Given the description of an element on the screen output the (x, y) to click on. 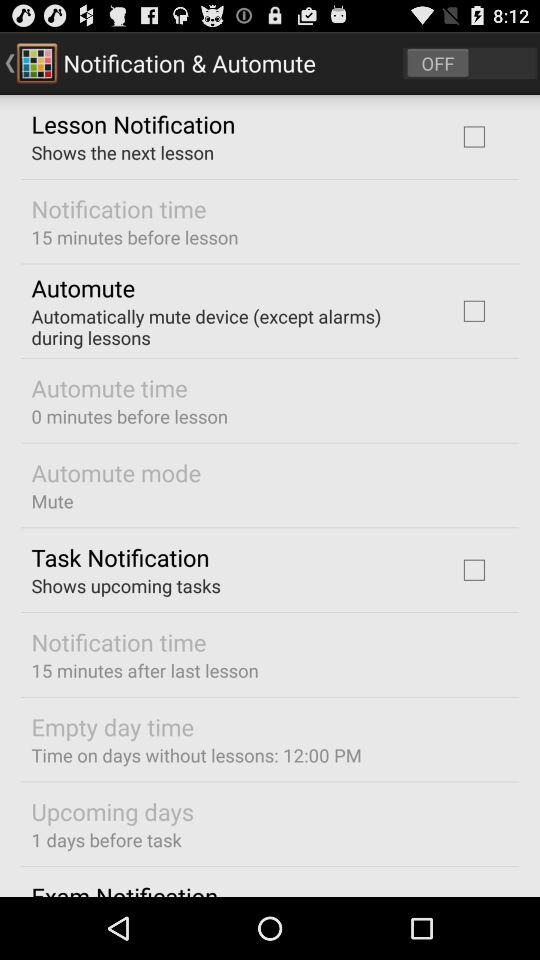
open the app above shows upcoming tasks item (120, 557)
